Given the description of an element on the screen output the (x, y) to click on. 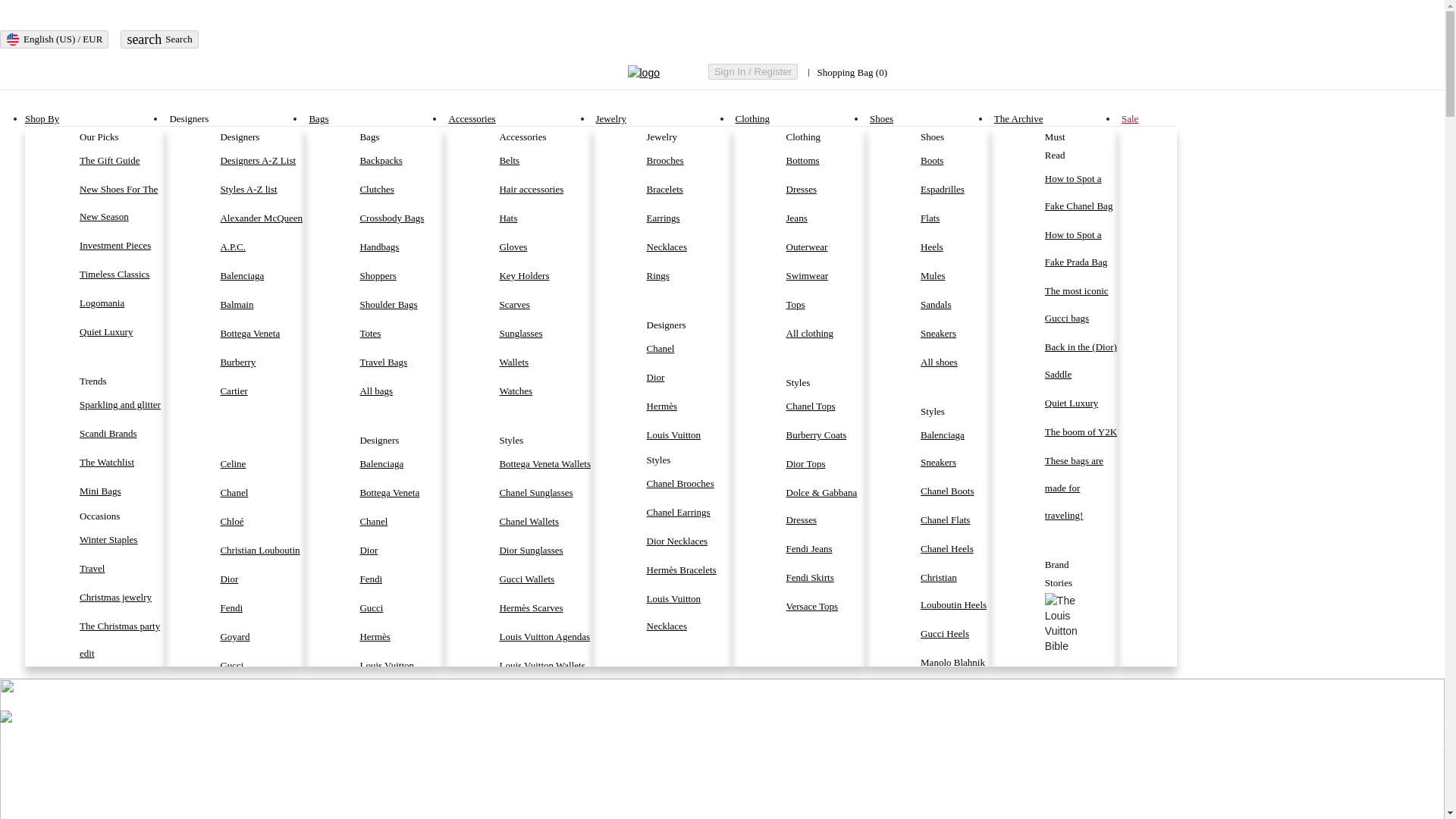
Investment Pieces (122, 245)
Balmain (261, 304)
Winter Staples (122, 539)
Cartier (261, 390)
Celine (261, 463)
Designers (188, 118)
Mini Bags (122, 491)
New Shoes For The New Season (122, 203)
The Christmas party edit (122, 639)
Christmas jewelry (122, 596)
